Given the description of an element on the screen output the (x, y) to click on. 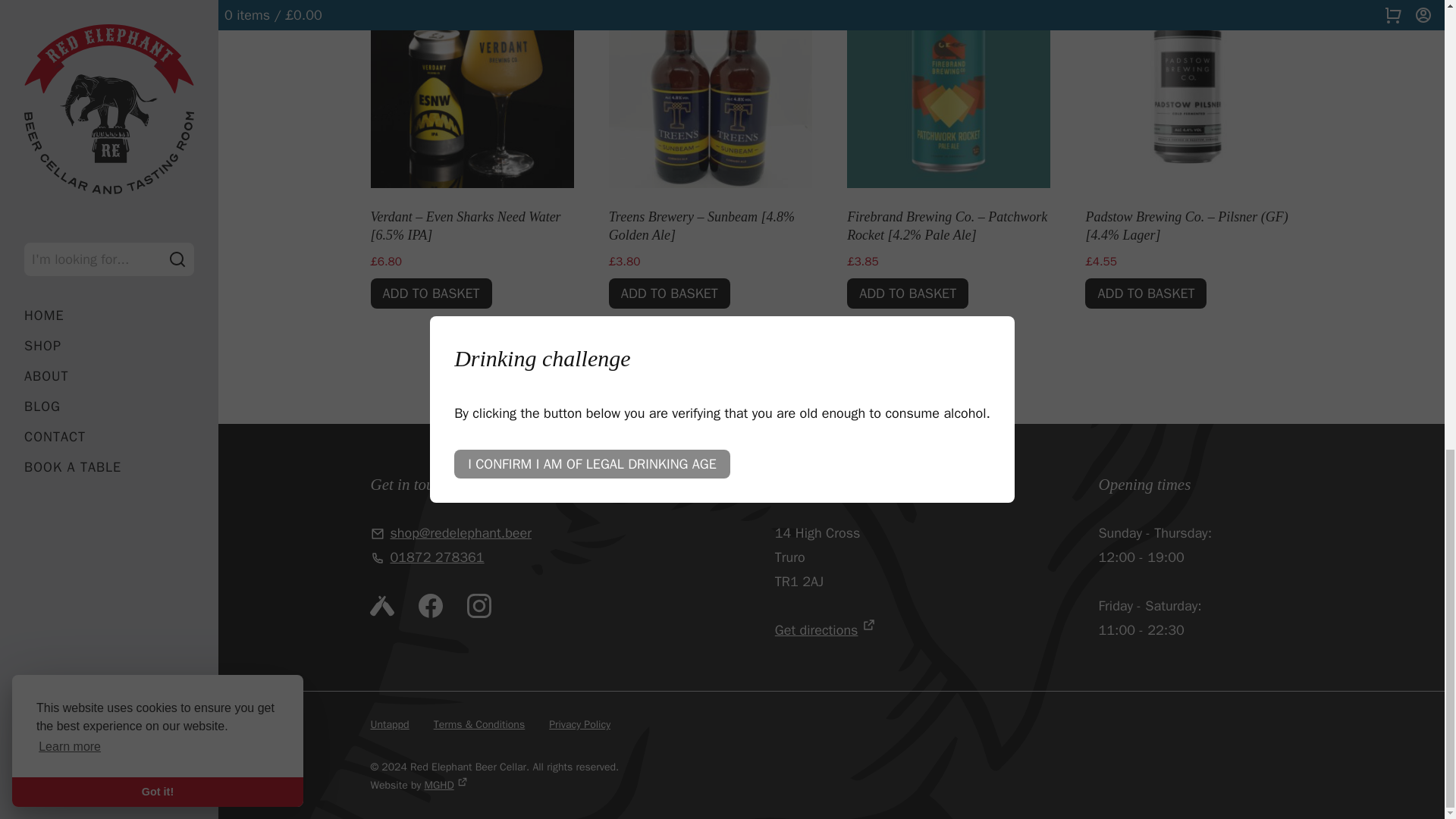
ADD TO BASKET (669, 293)
ADD TO BASKET (430, 293)
